Given the description of an element on the screen output the (x, y) to click on. 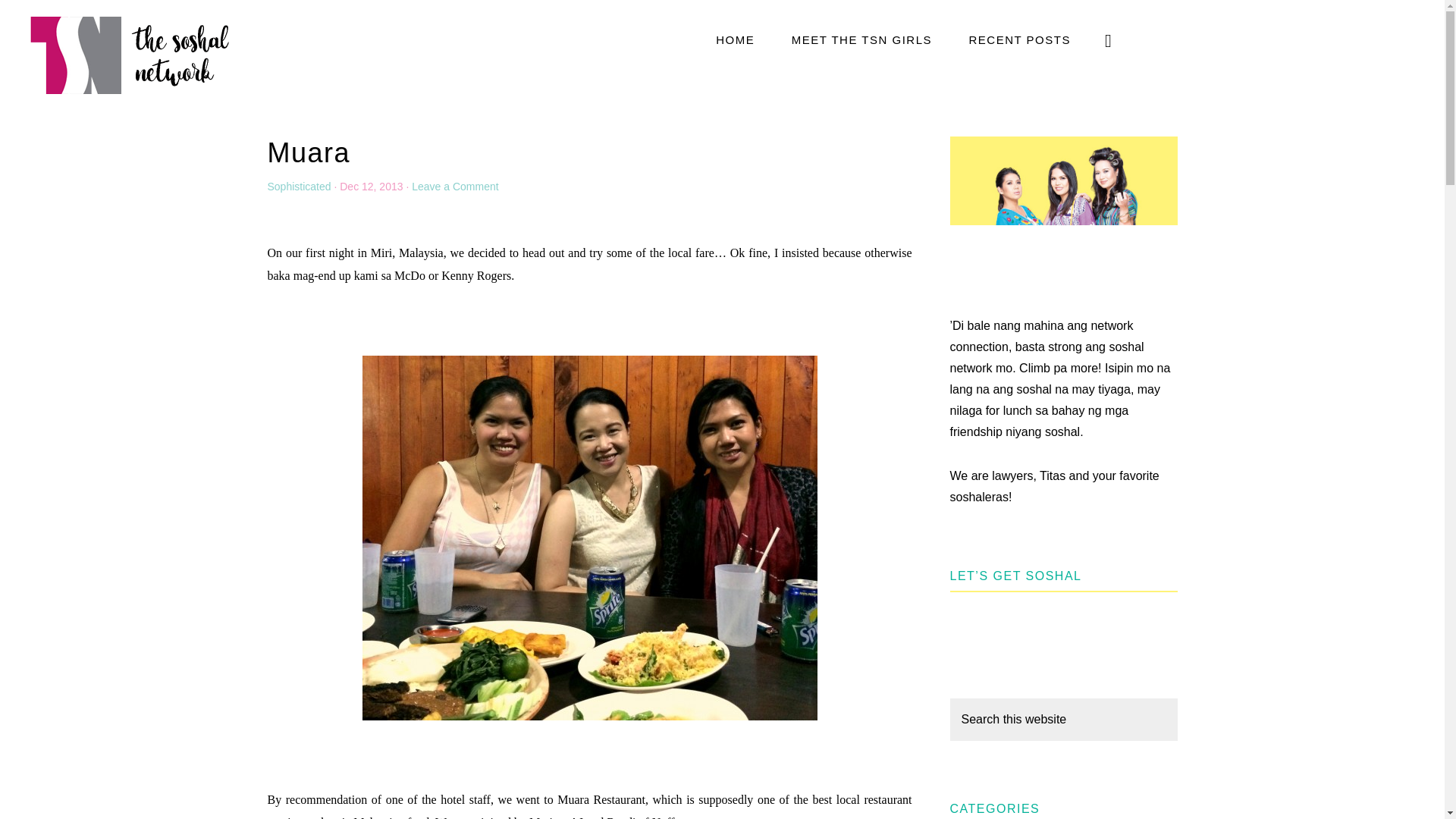
MEET THE TSN GIRLS (861, 39)
Leave a Comment (454, 186)
RECENT POSTS (1019, 39)
SHOW SEARCH (1109, 39)
THE SOSHAL NETWORK (129, 54)
Sophisticated (298, 186)
HOME (734, 39)
